Given the description of an element on the screen output the (x, y) to click on. 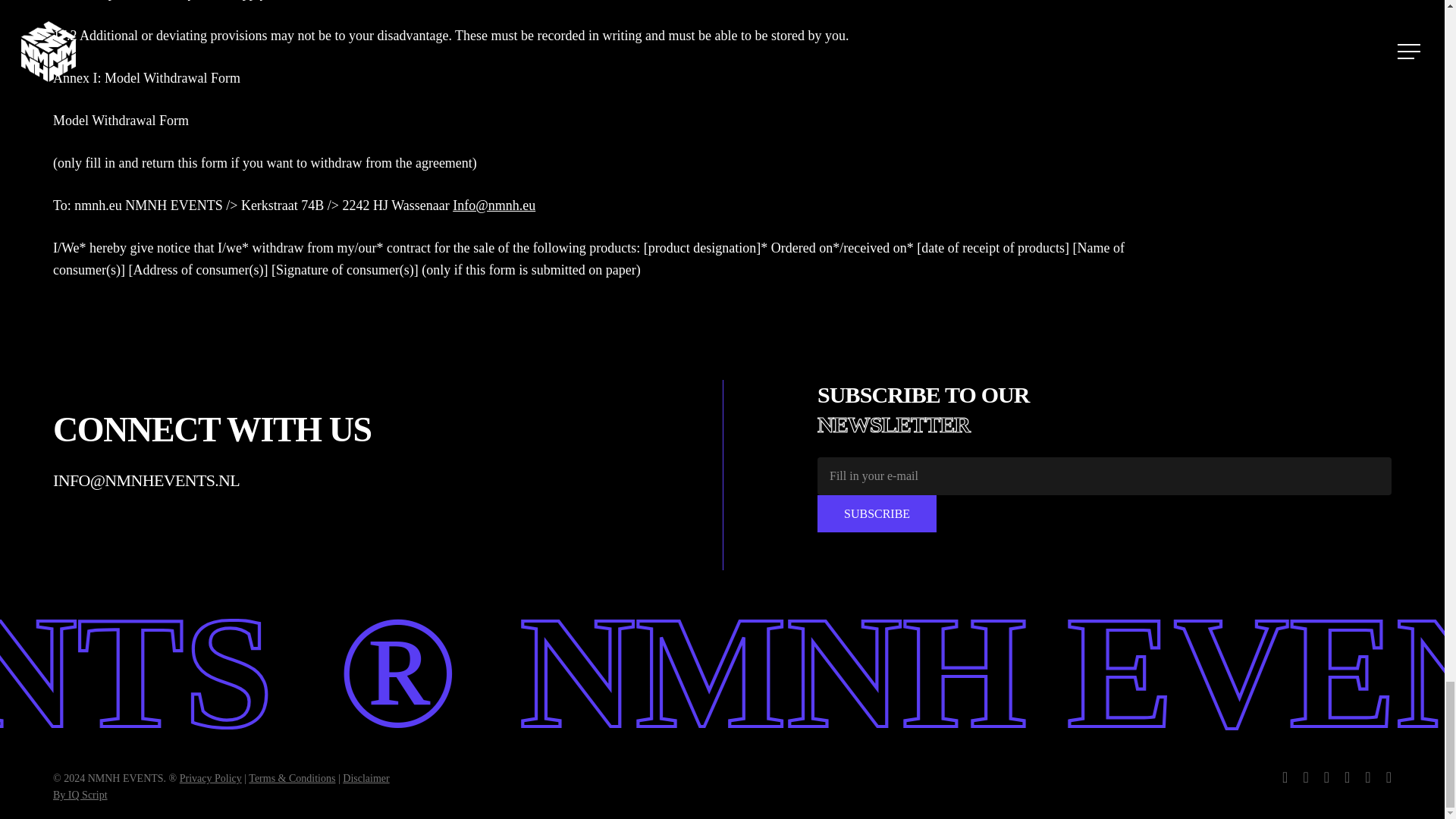
SUBSCRIBE (876, 513)
By IQ Script (79, 794)
Disclaimer (365, 778)
NMNH EVENTS (1268, 672)
SUBSCRIBE (876, 513)
Privacy Policy (210, 778)
